Given the description of an element on the screen output the (x, y) to click on. 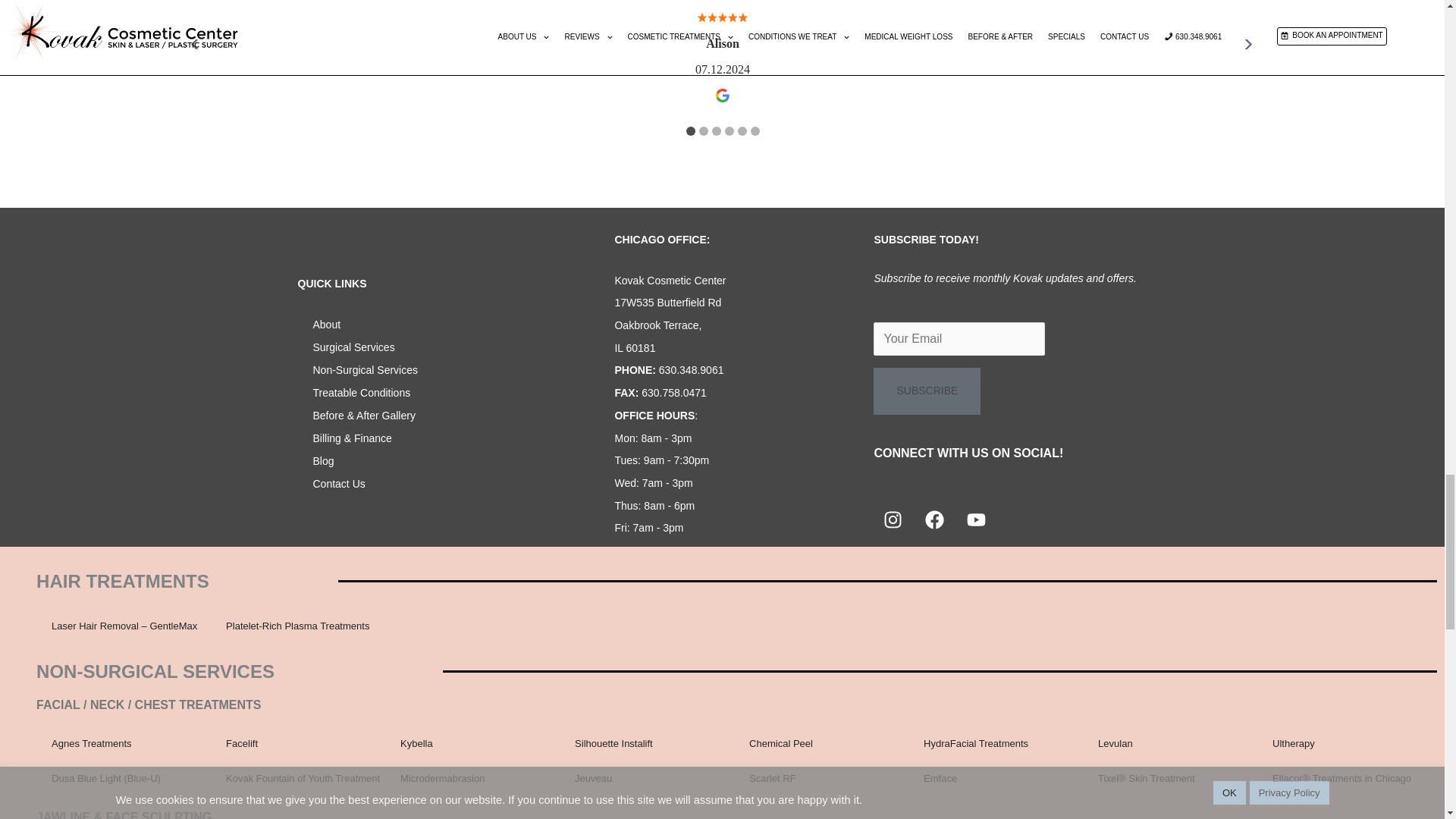
SUBSCRIBE (926, 390)
